Given the description of an element on the screen output the (x, y) to click on. 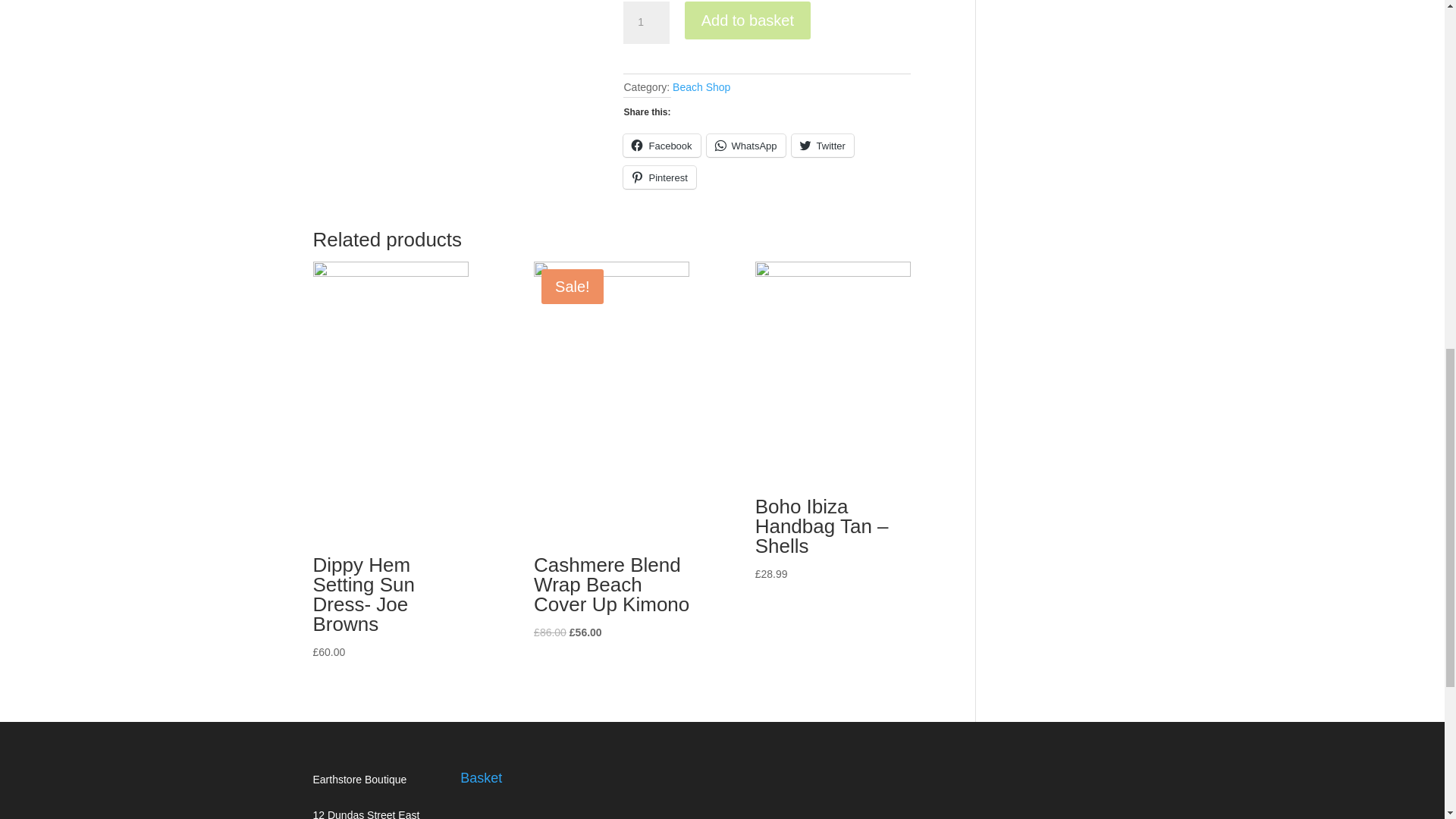
1 (645, 22)
Click to share on Twitter (822, 145)
Click to share on Facebook (661, 145)
Click to share on WhatsApp (746, 145)
